Given the description of an element on the screen output the (x, y) to click on. 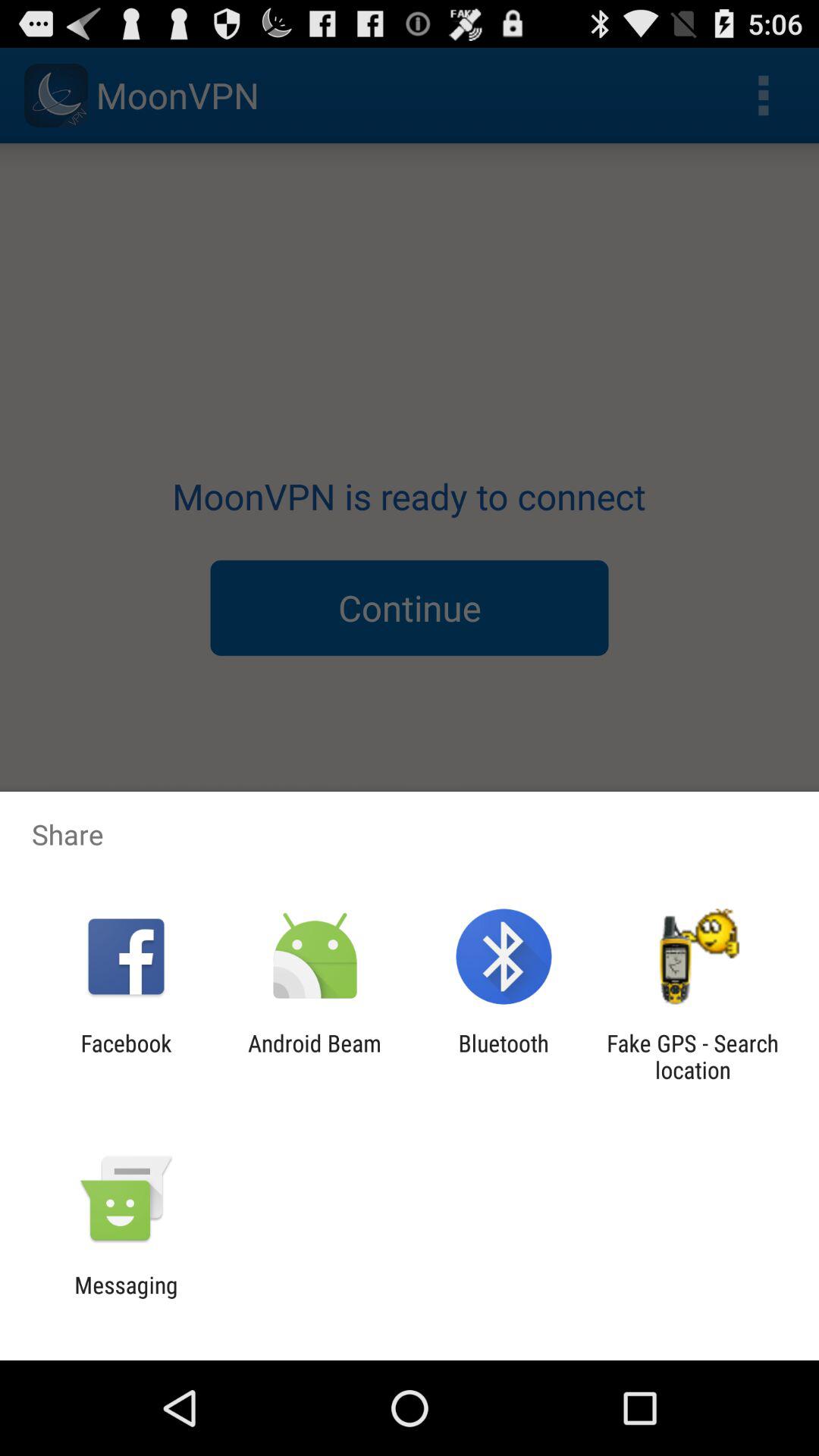
turn on icon to the right of the facebook icon (314, 1056)
